Given the description of an element on the screen output the (x, y) to click on. 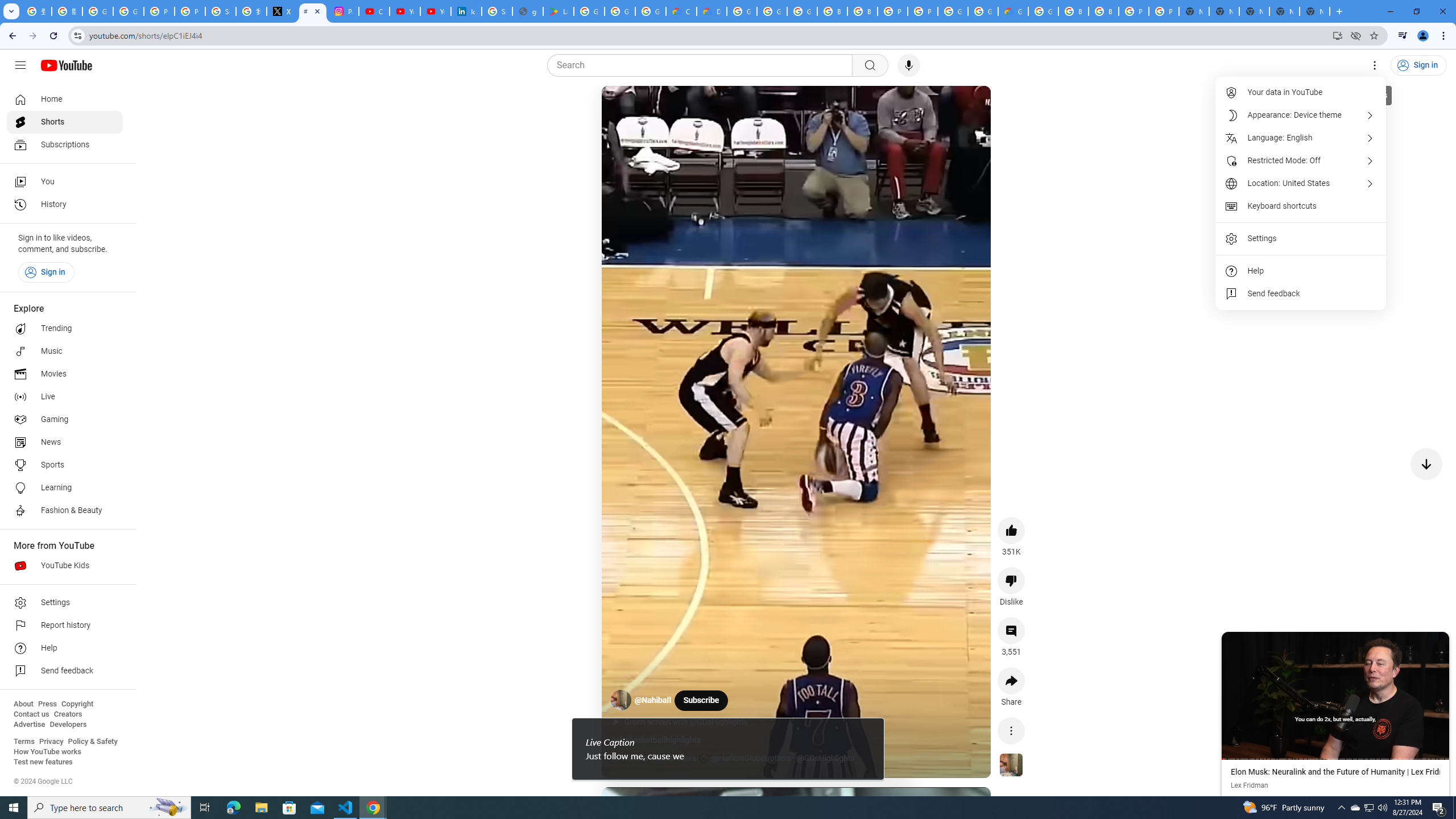
Google Cloud Platform (982, 11)
Seek slider (1334, 758)
Report history (64, 625)
Your data in YouTube (1300, 92)
YouTube Culture & Trends - YouTube Top 10, 2021 (434, 11)
Sign in - Google Accounts (496, 11)
Trending (64, 328)
